Given the description of an element on the screen output the (x, y) to click on. 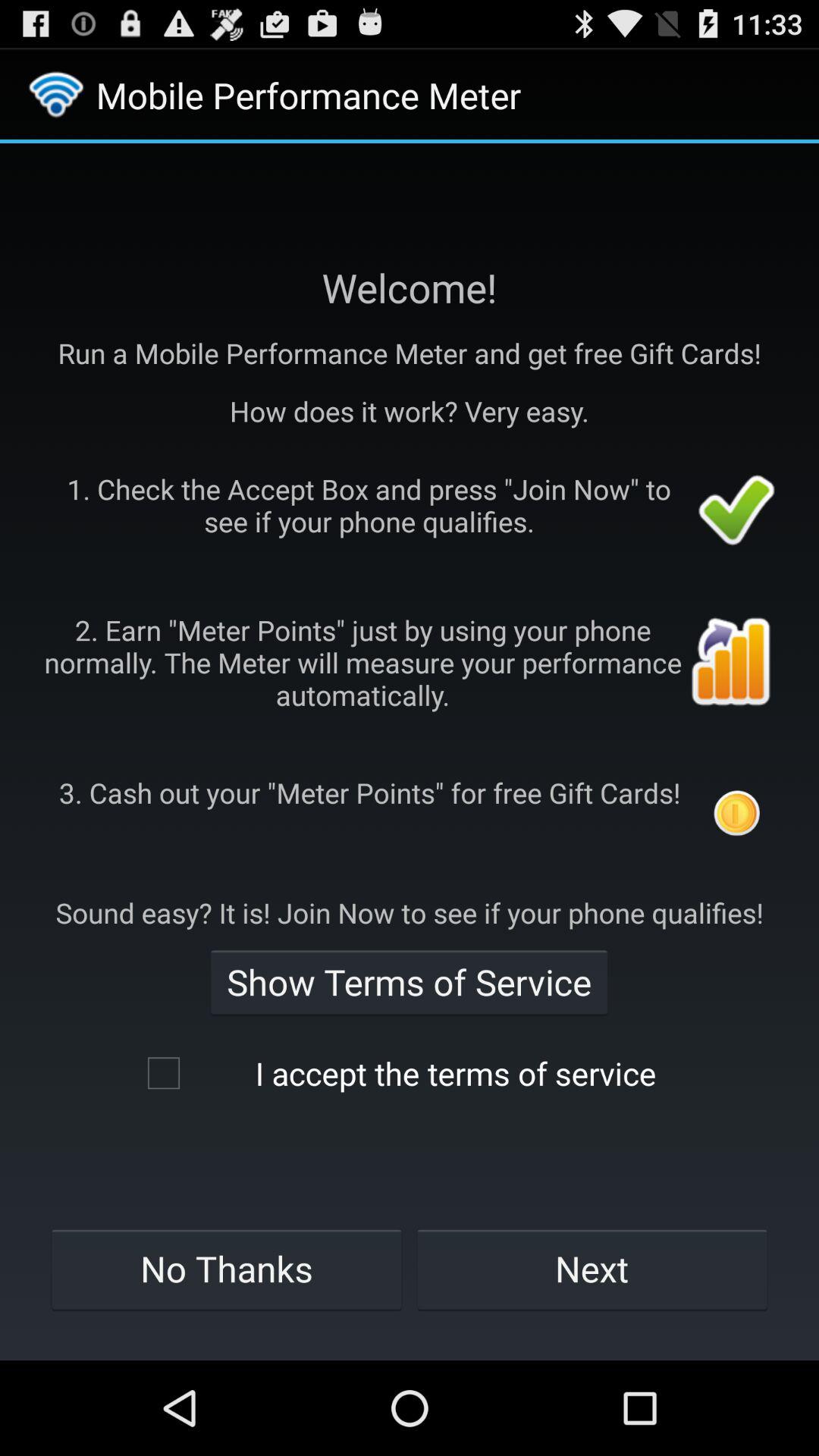
tap next button (592, 1268)
